Given the description of an element on the screen output the (x, y) to click on. 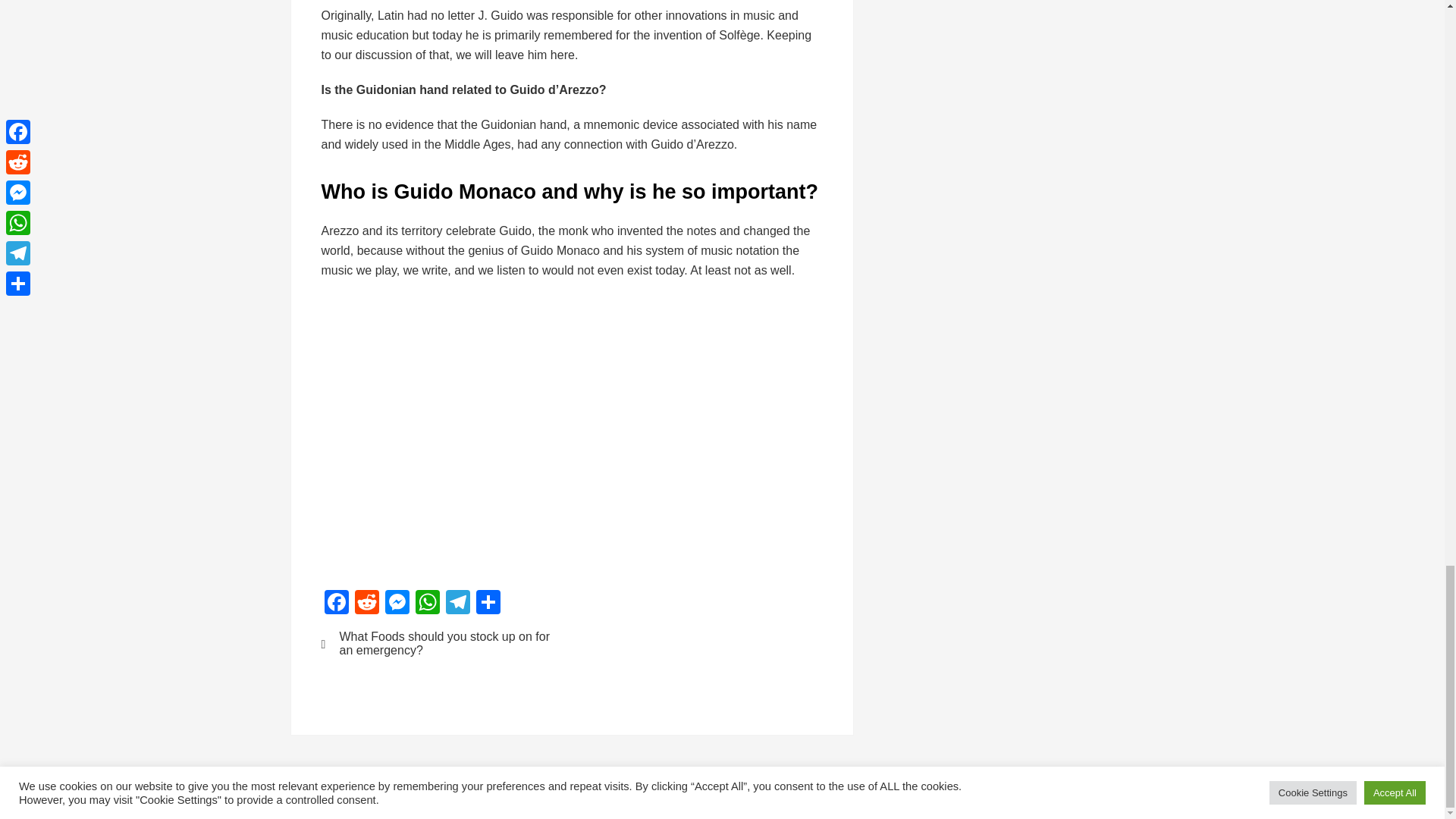
Share (488, 603)
Facebook (336, 603)
Reddit (366, 603)
WhatsApp (427, 603)
WhatsApp (427, 603)
Messenger (396, 603)
Telegram (457, 603)
Messenger (396, 603)
Telegram (457, 603)
What Foods should you stock up on for an emergency? (436, 643)
Facebook (336, 603)
Reddit (366, 603)
